Given the description of an element on the screen output the (x, y) to click on. 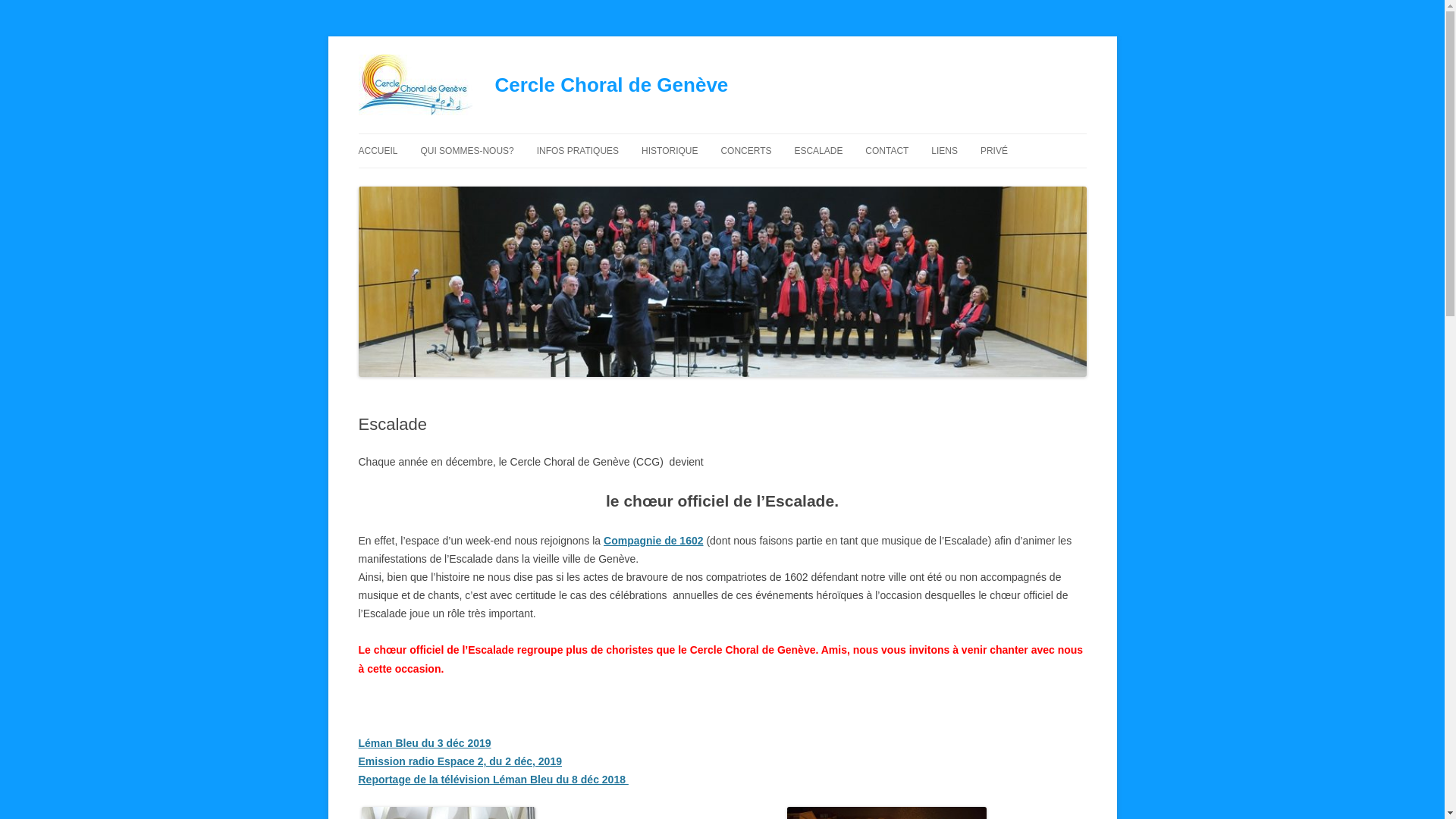
ESCALADE Element type: text (817, 150)
Compagnie de 1602 Element type: text (653, 539)
LIENS Element type: text (944, 150)
HISTORIQUE Element type: text (669, 150)
CONCERTS Element type: text (745, 150)
ACCUEIL Element type: text (377, 150)
INFOS PRATIQUES Element type: text (577, 150)
QUI SOMMES-NOUS? Element type: text (466, 150)
Aller au contenu Element type: text (721, 133)
CONTACT Element type: text (886, 150)
